Given the description of an element on the screen output the (x, y) to click on. 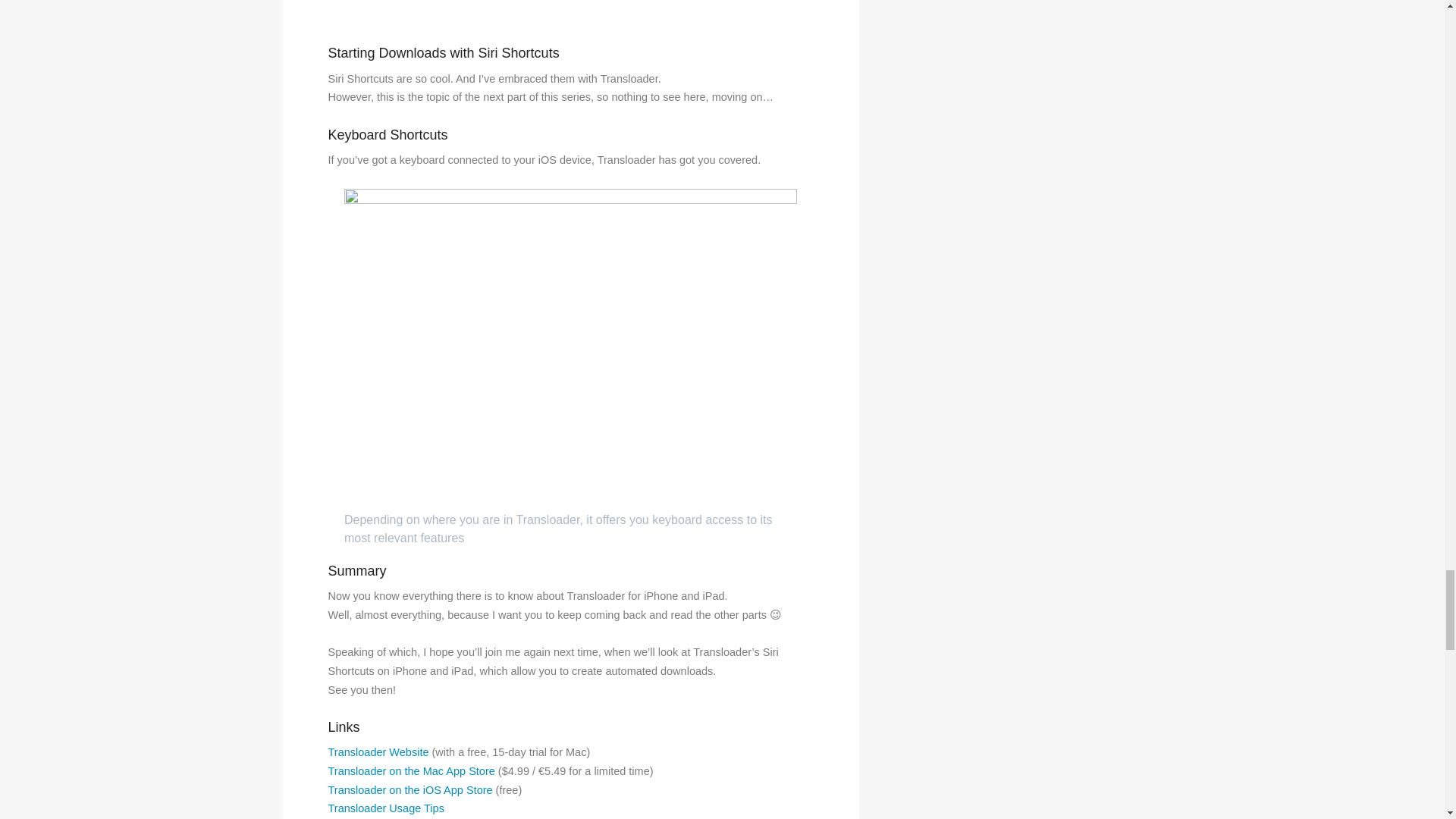
Transloader Usage Tips (385, 808)
Transloader on the Mac App Store (411, 770)
Transloader Website (377, 752)
Transloader on the iOS App Store (409, 789)
Transloader iOS Demo - Inter-app Drag and Drop (569, 13)
